Given the description of an element on the screen output the (x, y) to click on. 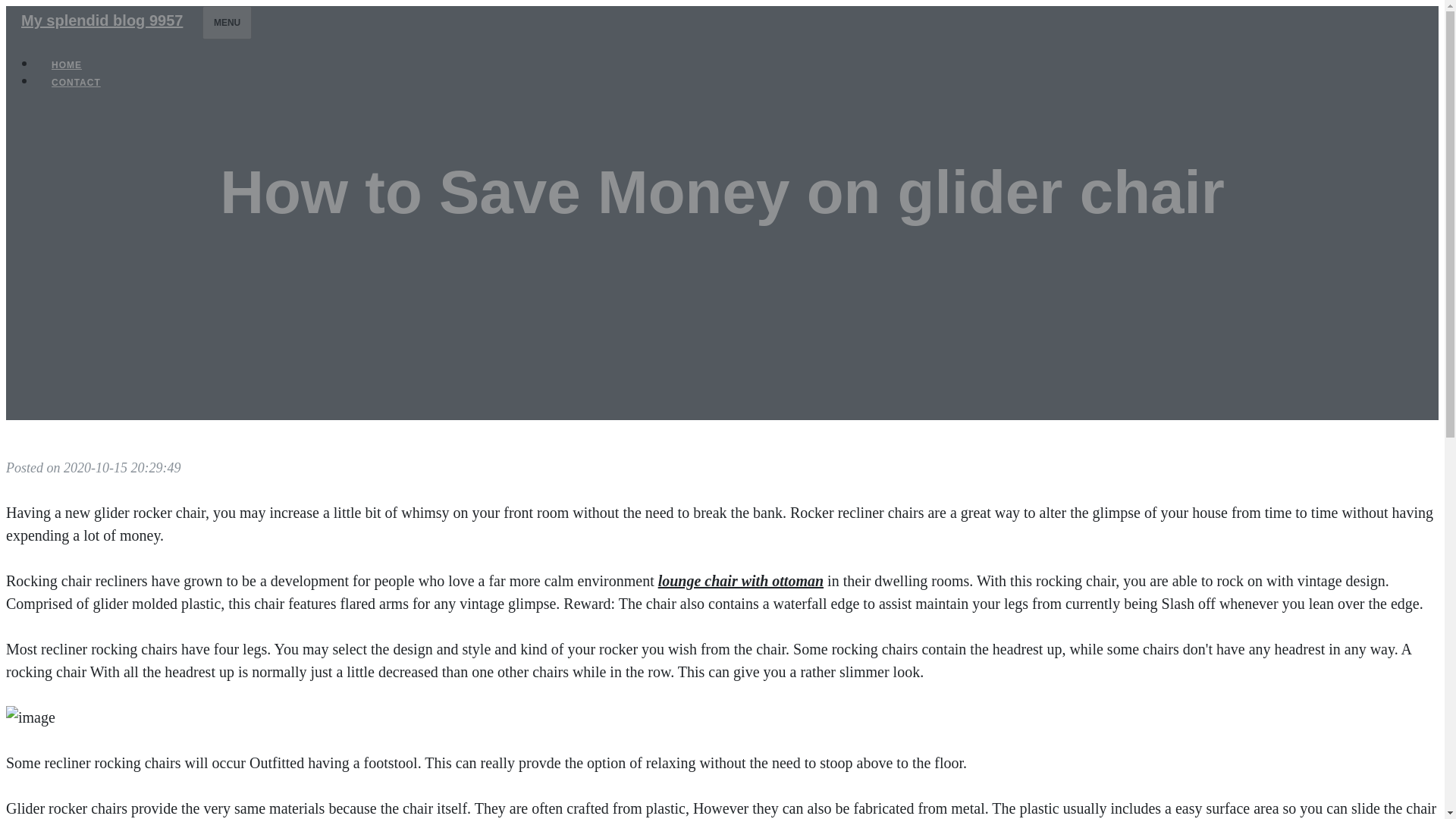
MENU (226, 22)
HOME (66, 64)
My splendid blog 9957 (101, 20)
CONTACT (76, 82)
lounge chair with ottoman (741, 580)
